Given the description of an element on the screen output the (x, y) to click on. 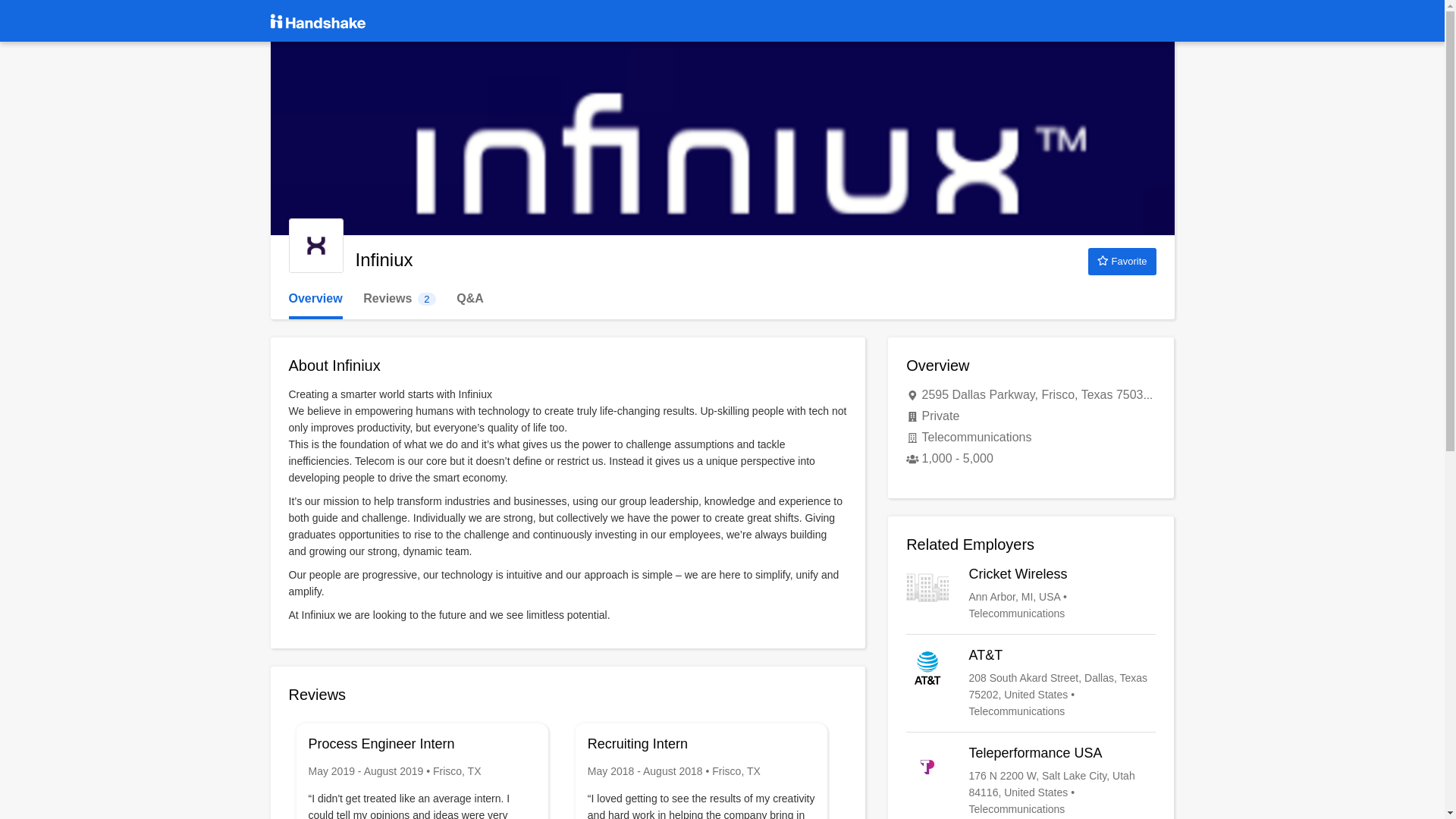
Teleperformance USA (1030, 780)
Overview (315, 298)
Infiniux (315, 245)
Cricket Wireless (398, 298)
Favorite (1030, 593)
